Given the description of an element on the screen output the (x, y) to click on. 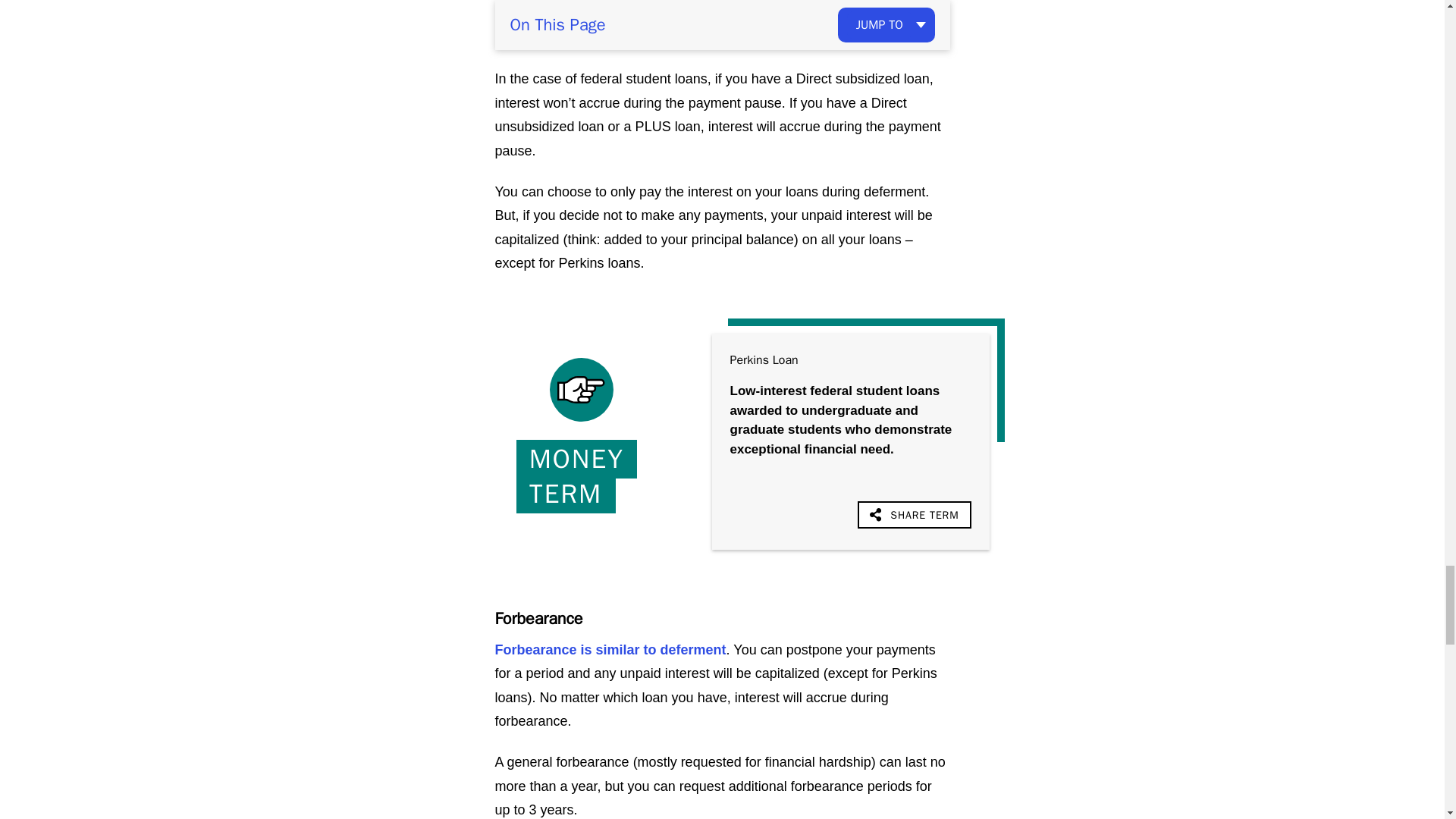
Toggle Share Menu (914, 514)
Jump to Article Sources (910, 34)
